Given the description of an element on the screen output the (x, y) to click on. 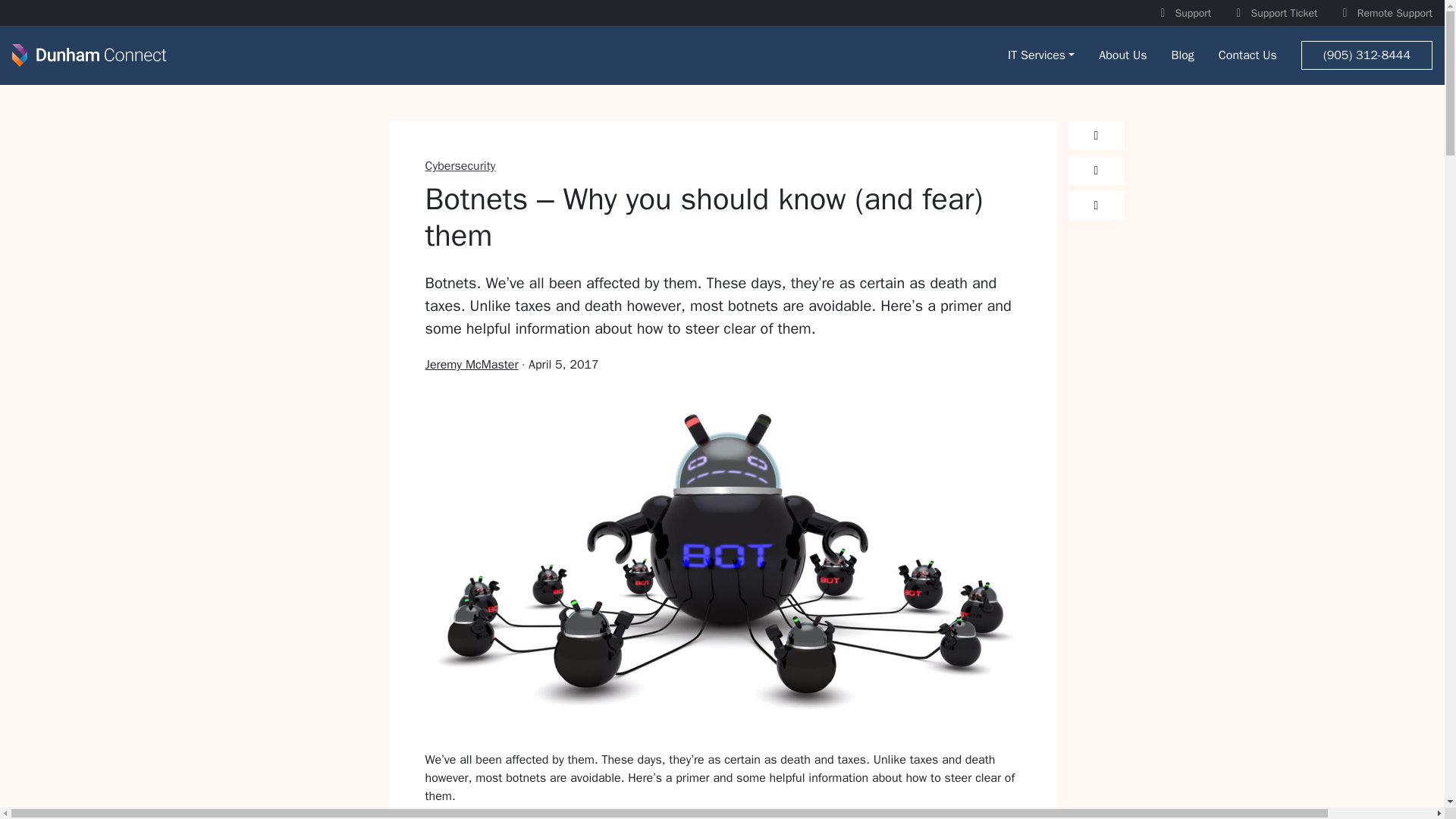
Support (1182, 11)
Blog (1181, 55)
Cybersecurity (460, 165)
Contact Us (1247, 55)
Remote Support (1384, 11)
Jeremy McMaster (471, 364)
Support Ticket (1272, 11)
IT Services (1040, 55)
About Us (1122, 55)
